Given the description of an element on the screen output the (x, y) to click on. 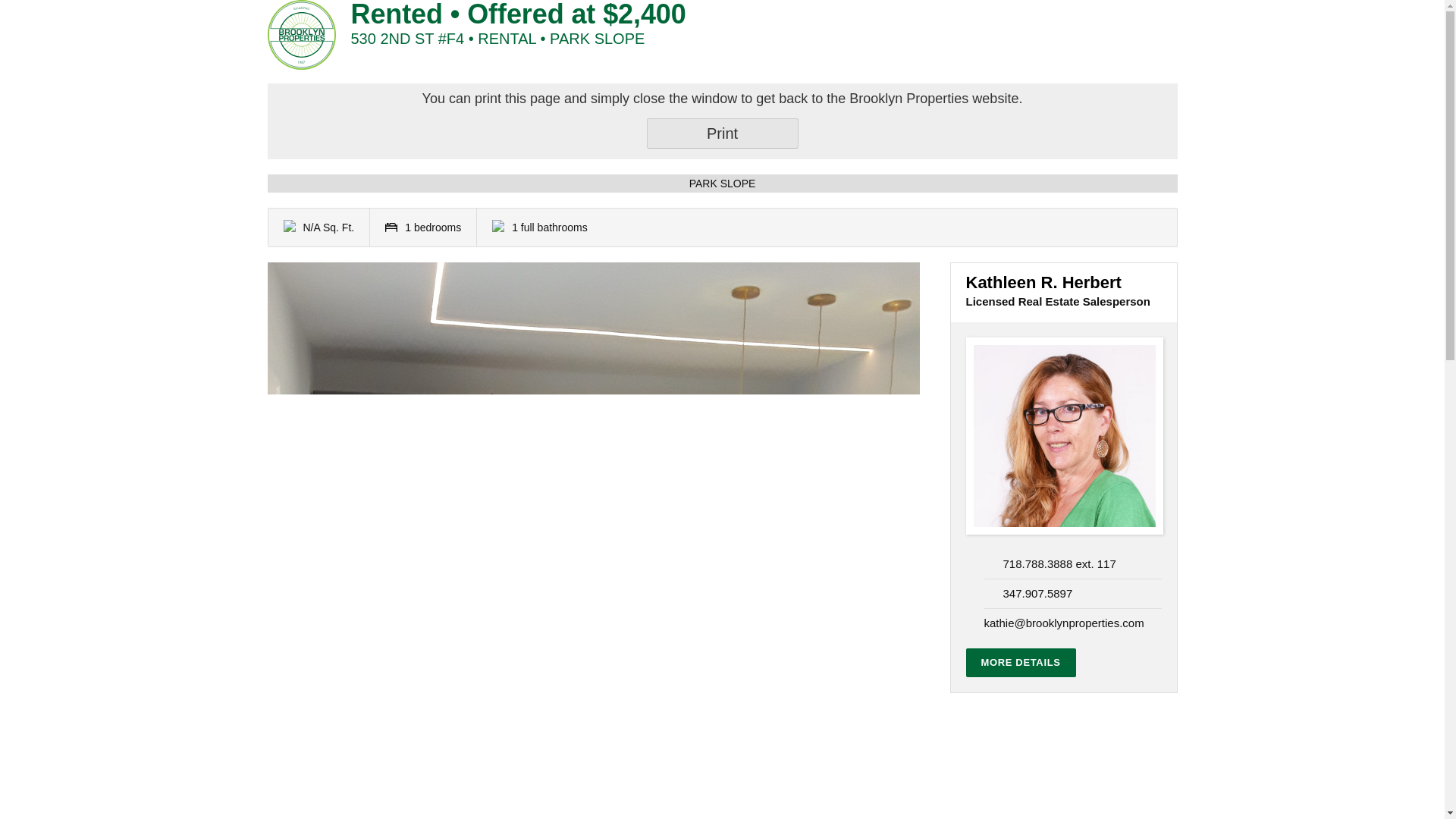
MORE DETAILS (1020, 662)
Kathleen R. Herbert (1043, 281)
Kathleen R. Herbert (1063, 435)
Print (721, 132)
More Details (1020, 662)
Kathleen R. Herbert (1043, 281)
